Given the description of an element on the screen output the (x, y) to click on. 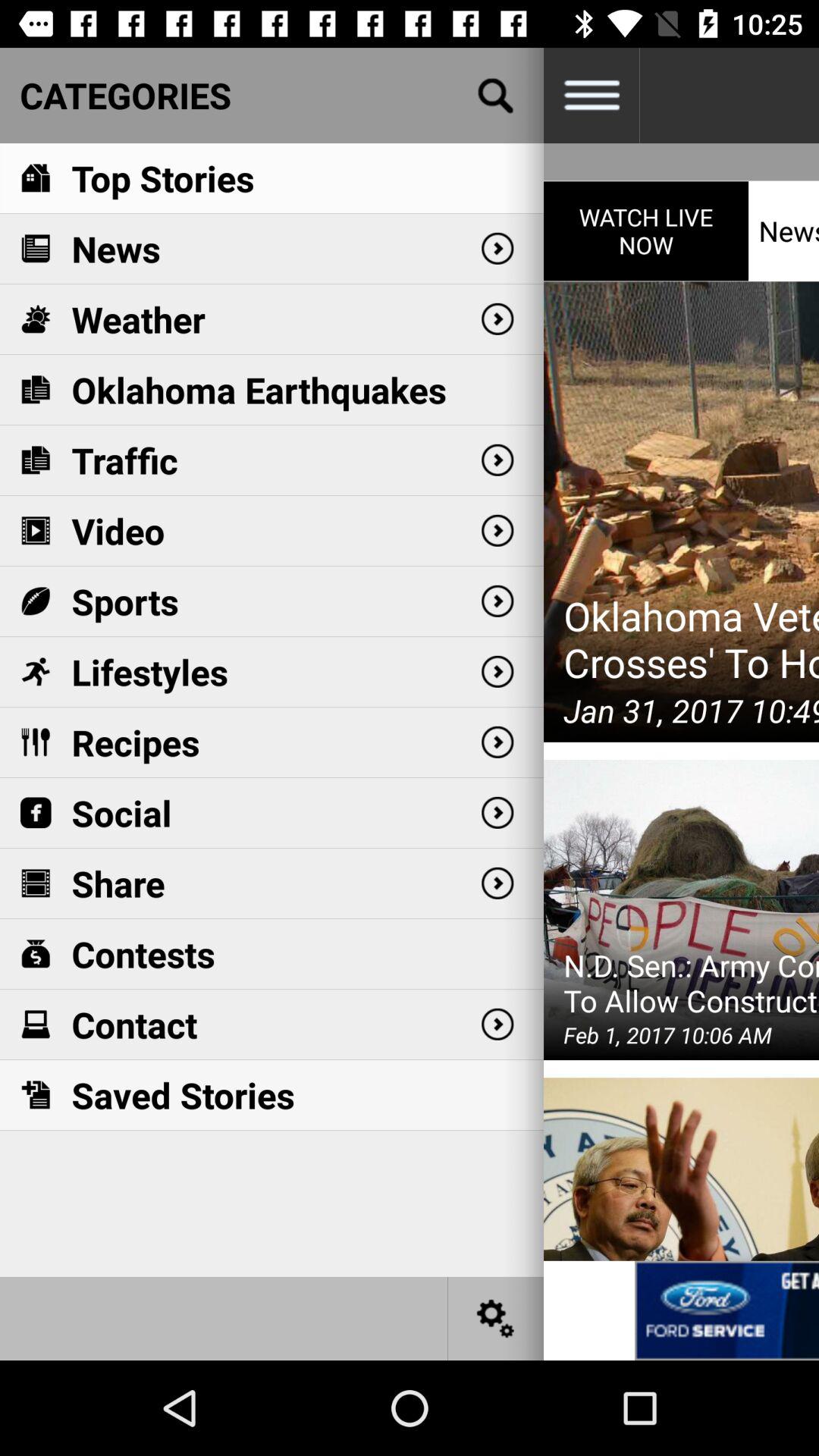
expand settings (591, 95)
